Given the description of an element on the screen output the (x, y) to click on. 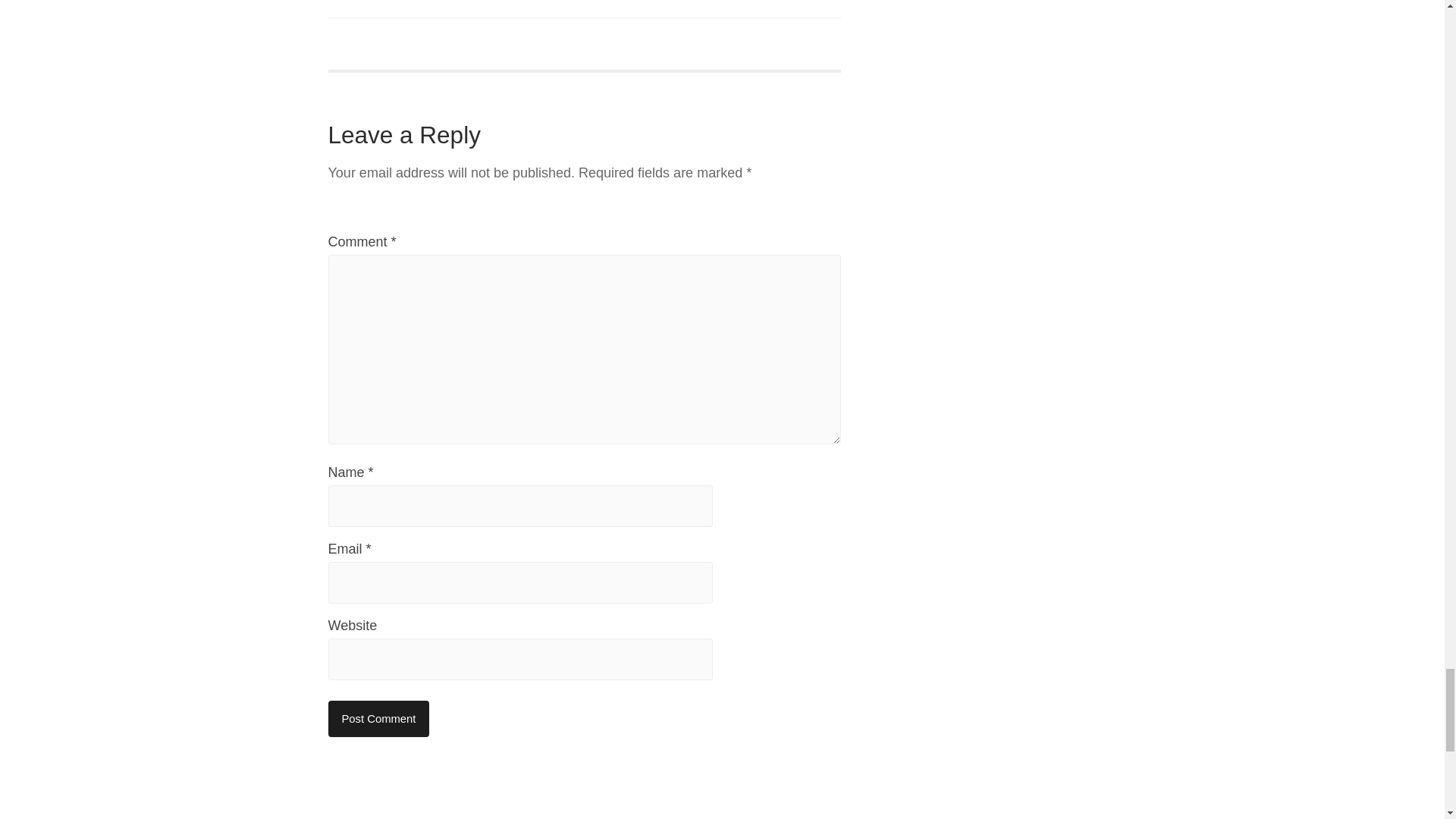
Post Comment (378, 719)
